Given the description of an element on the screen output the (x, y) to click on. 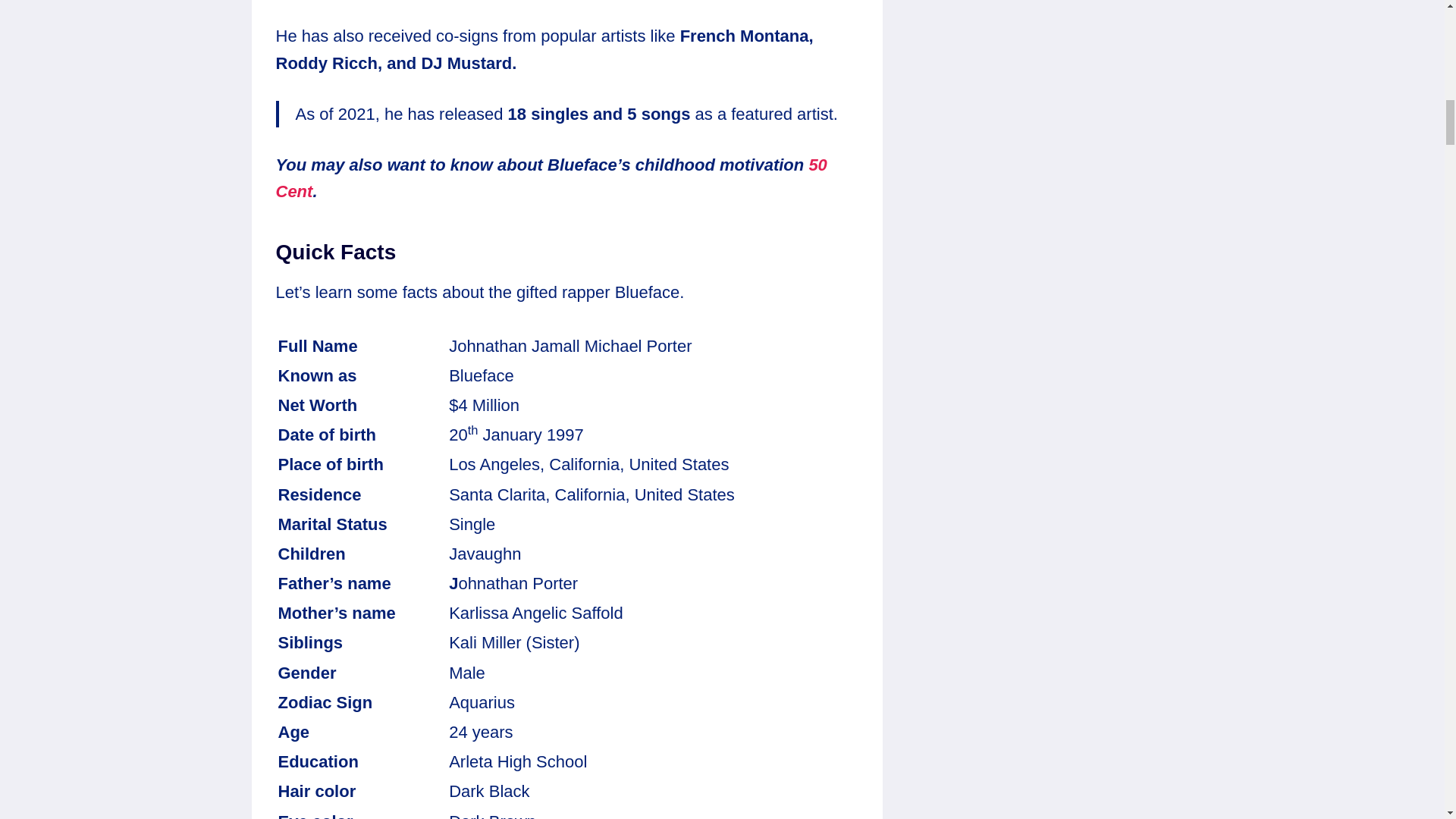
50 Cent (551, 177)
